Given the description of an element on the screen output the (x, y) to click on. 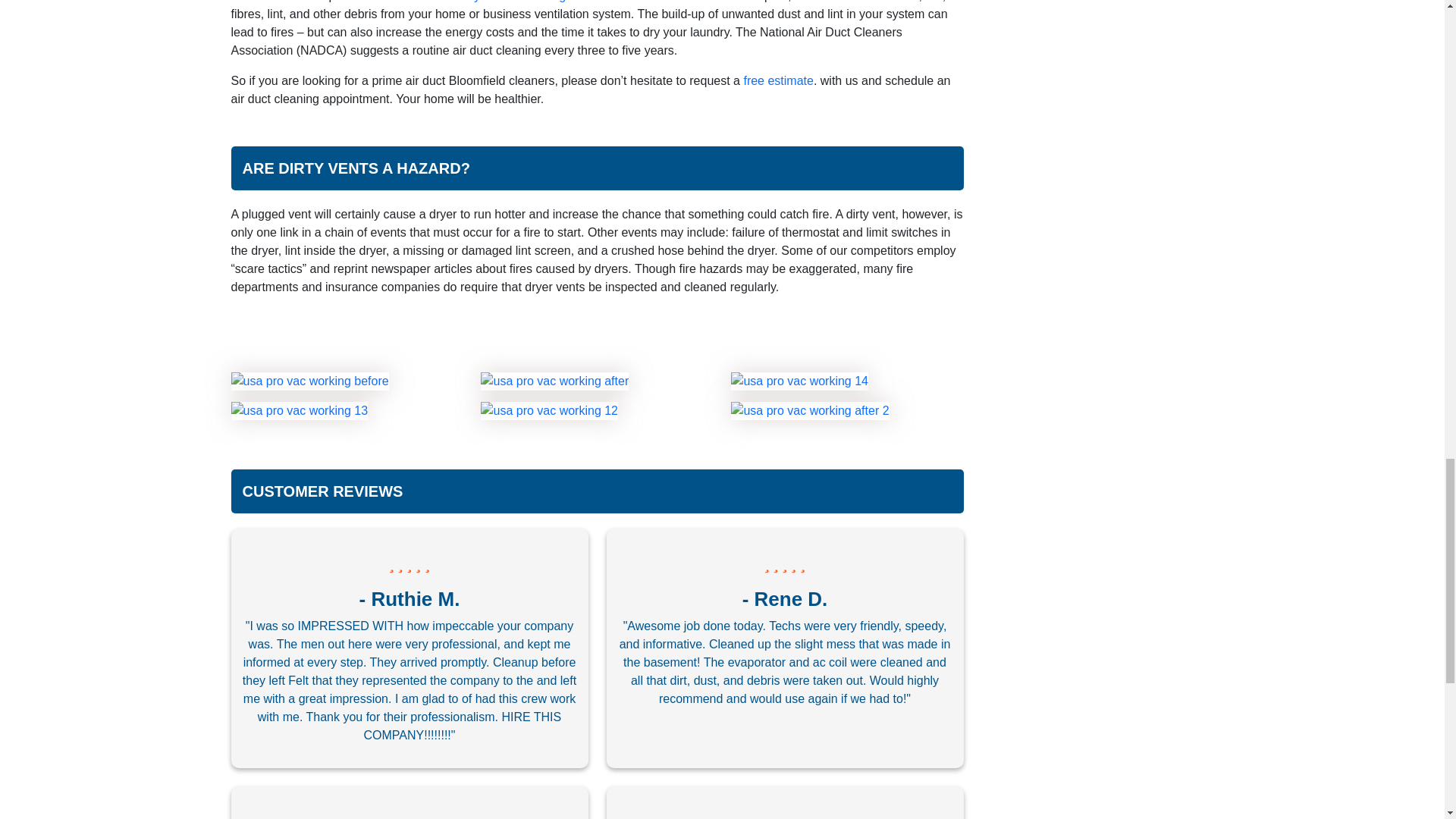
free estimate (777, 80)
dryer vent cleaning services (537, 1)
- Rene D. (785, 599)
- Ruthie M. (409, 599)
